Given the description of an element on the screen output the (x, y) to click on. 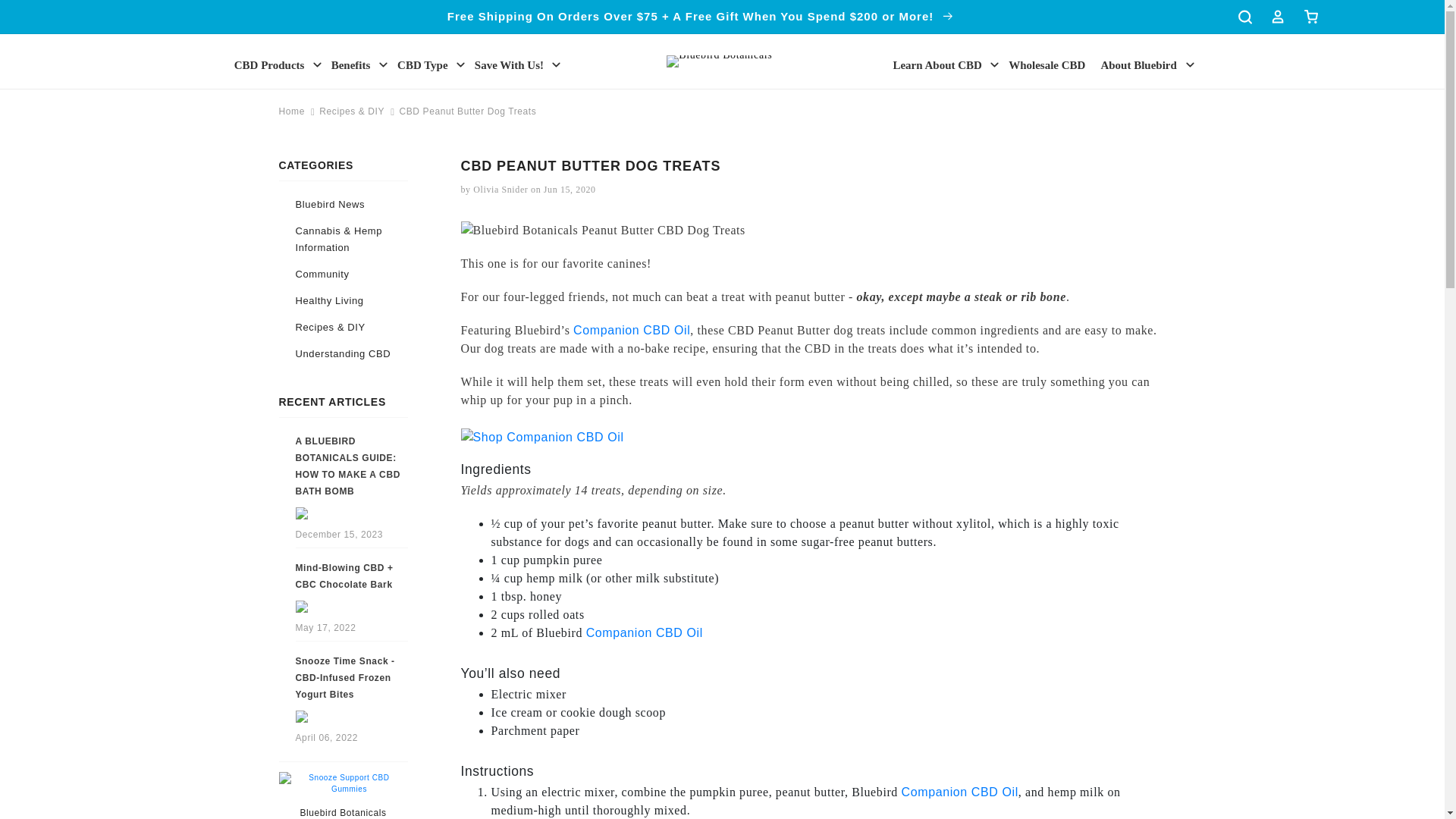
Chevron down Icon (383, 63)
Chevron down Icon (1189, 63)
Cart (1310, 16)
Chevron down Icon (460, 63)
Chevron down Icon (317, 63)
Chevron down Icon (556, 63)
Skip to content (45, 16)
Chevron down Icon (994, 63)
Log in (1277, 16)
Bluebird Botanicals (342, 812)
